Given the description of an element on the screen output the (x, y) to click on. 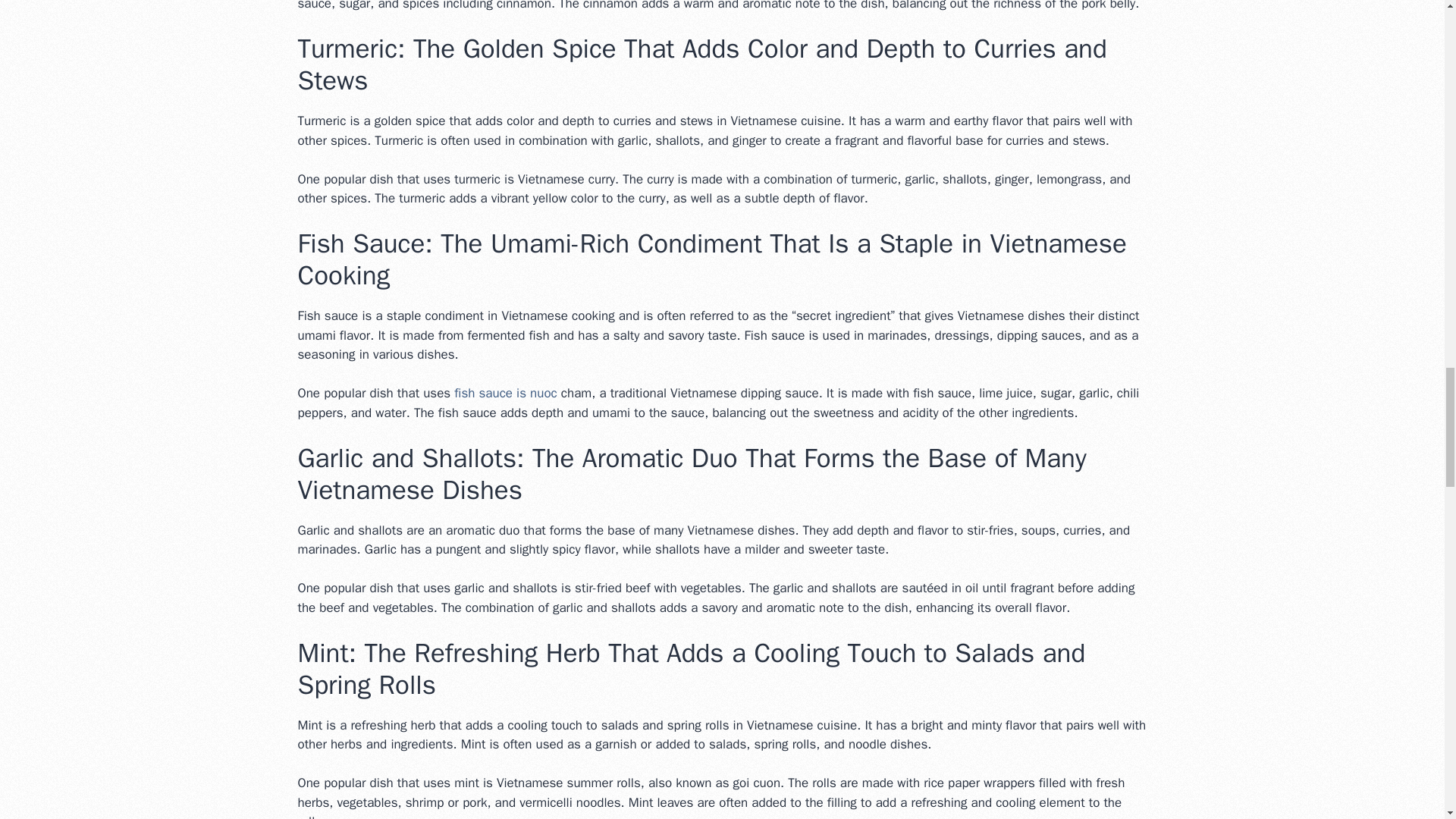
fish sauce is nuoc (505, 392)
